Given the description of an element on the screen output the (x, y) to click on. 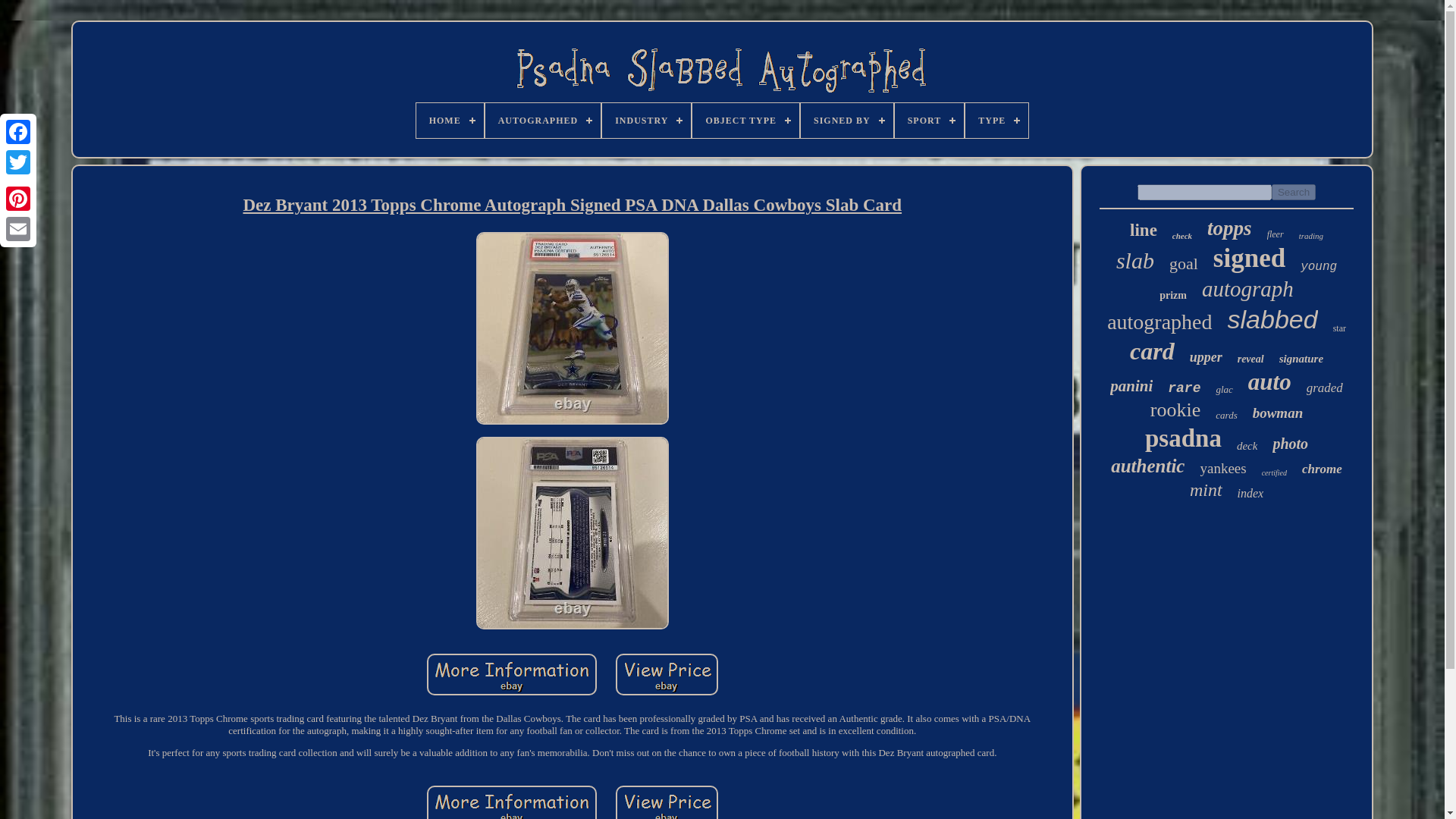
OBJECT TYPE (746, 120)
Search (1293, 191)
INDUSTRY (646, 120)
AUTOGRAPHED (541, 120)
HOME (449, 120)
